Given the description of an element on the screen output the (x, y) to click on. 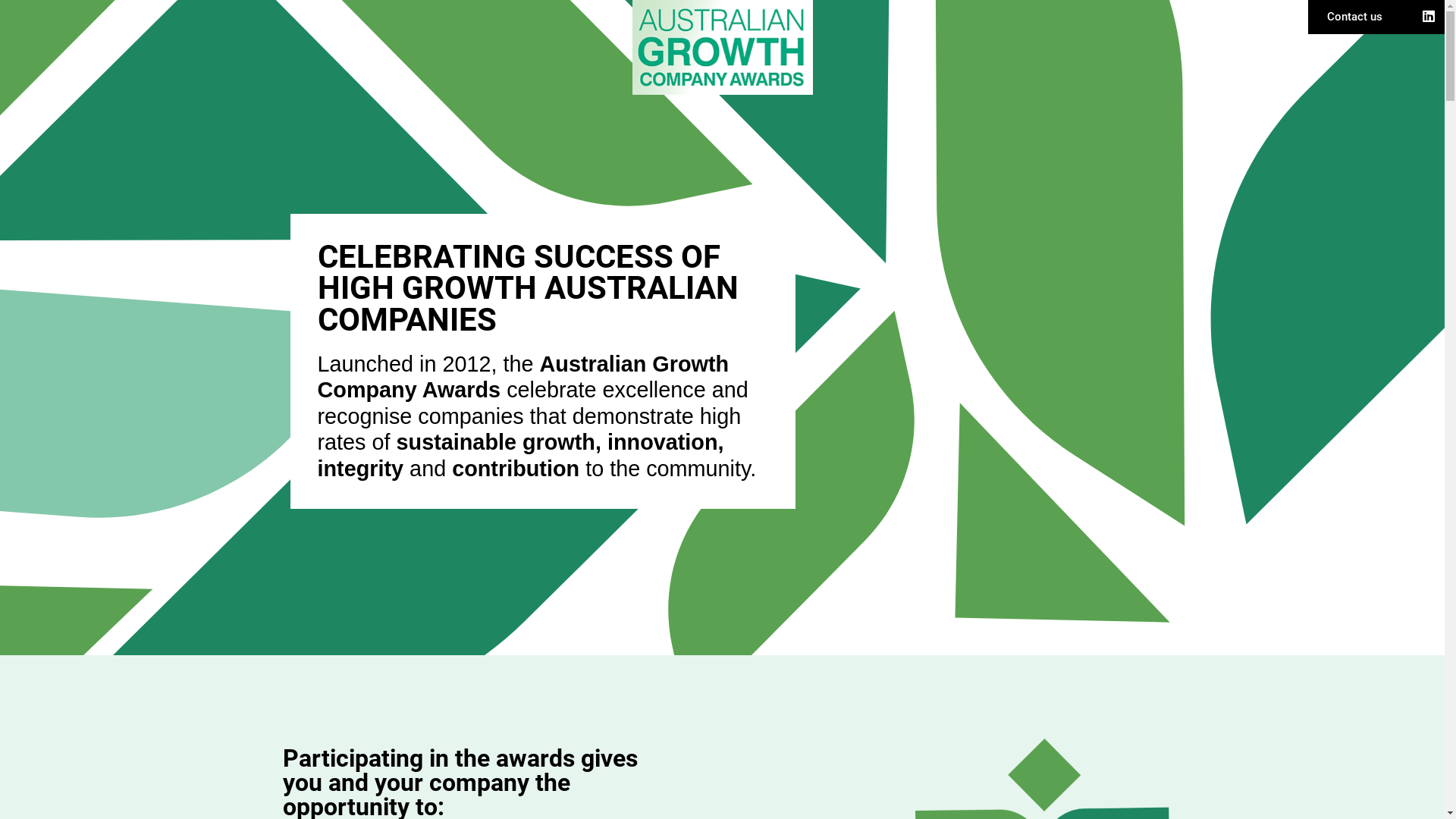
Contact us Element type: text (1354, 16)
